Given the description of an element on the screen output the (x, y) to click on. 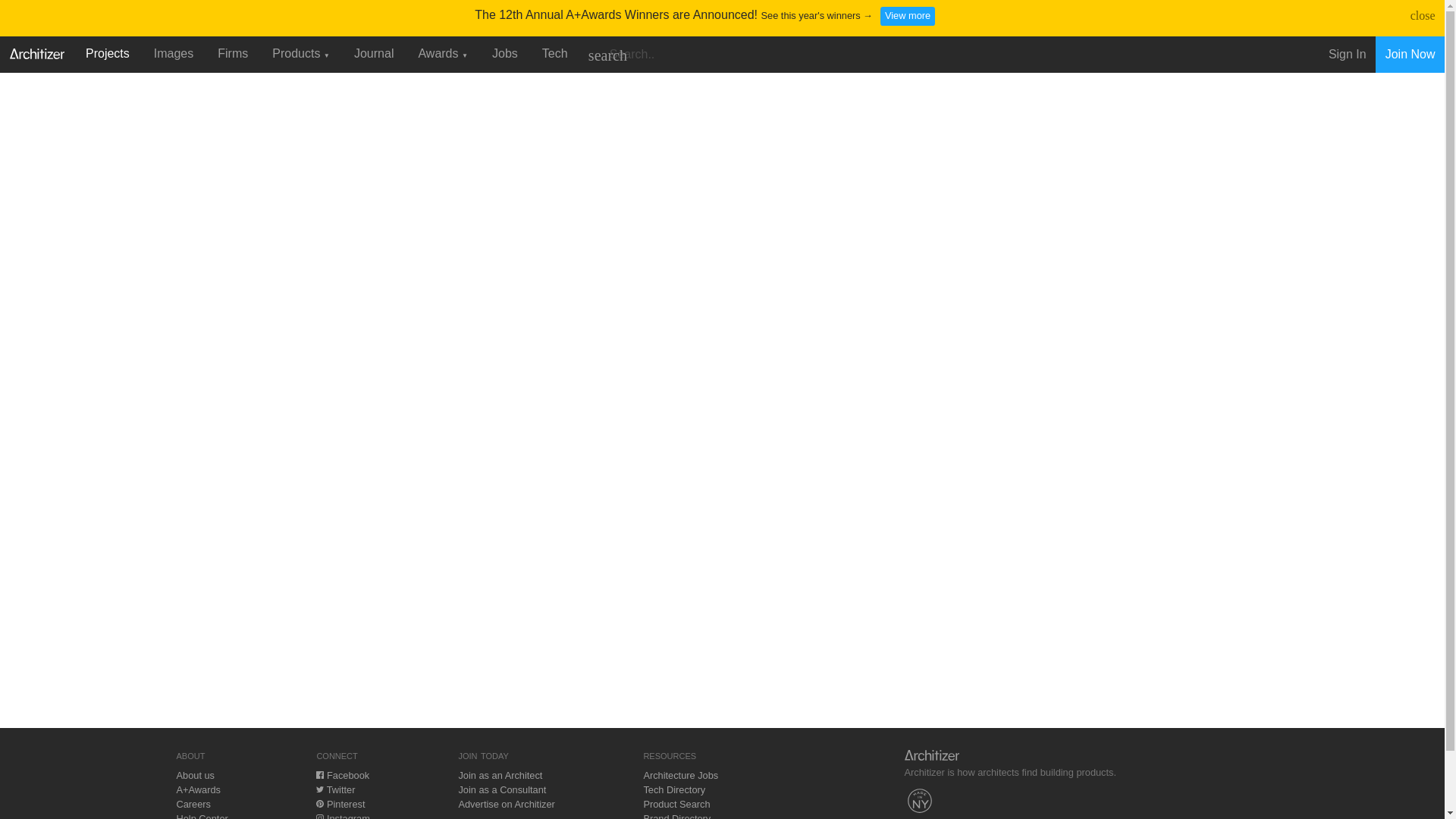
Images (173, 53)
About us (195, 775)
Instagram icon (319, 816)
search (606, 55)
Pinterest icon (319, 803)
Twitter icon (319, 789)
Tech Directory (673, 789)
Firms (232, 53)
Careers (193, 803)
Advertise on Architizer (506, 803)
